Given the description of an element on the screen output the (x, y) to click on. 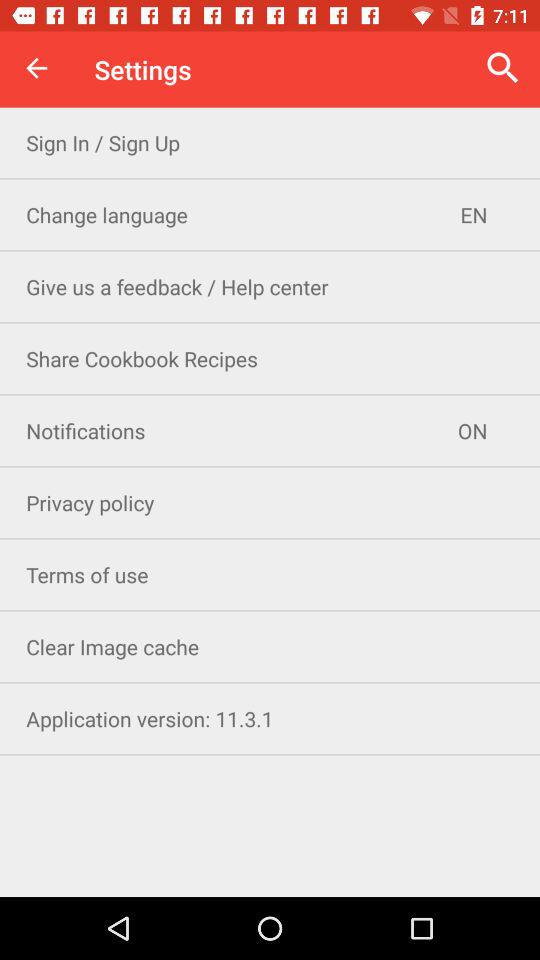
click the item to the left of the settings (36, 68)
